Given the description of an element on the screen output the (x, y) to click on. 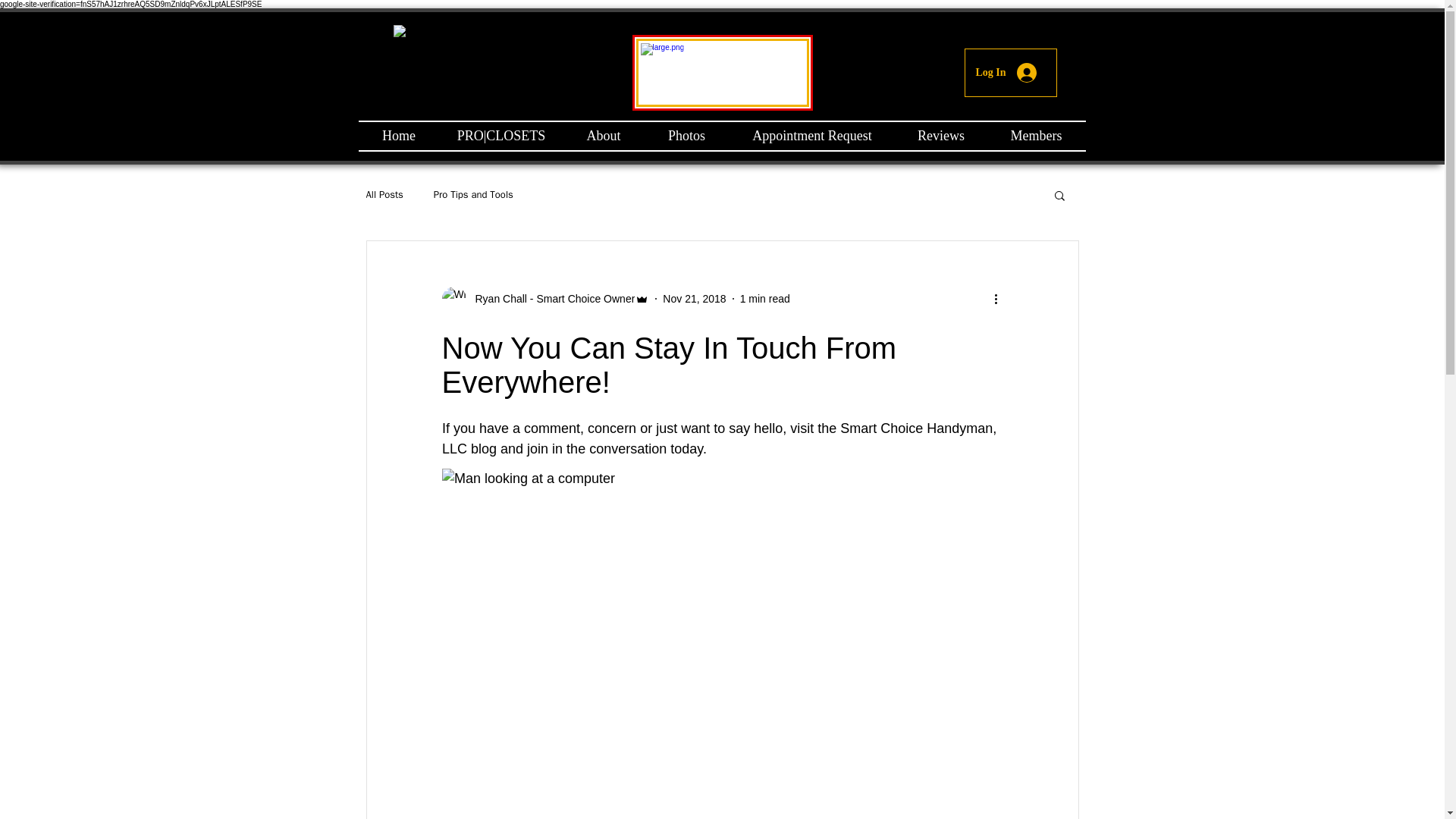
Pro Tips and Tools (473, 194)
Nov 21, 2018 (693, 298)
Reviews (941, 135)
Ryan Chall - Smart Choice Owner (545, 298)
About (602, 135)
Home (398, 135)
Members (1036, 135)
Appointment Request (812, 135)
All Posts (384, 194)
1 min read (764, 298)
Photos (687, 135)
Log In (1004, 72)
Ryan Chall - Smart Choice Owner (549, 299)
